Given the description of an element on the screen output the (x, y) to click on. 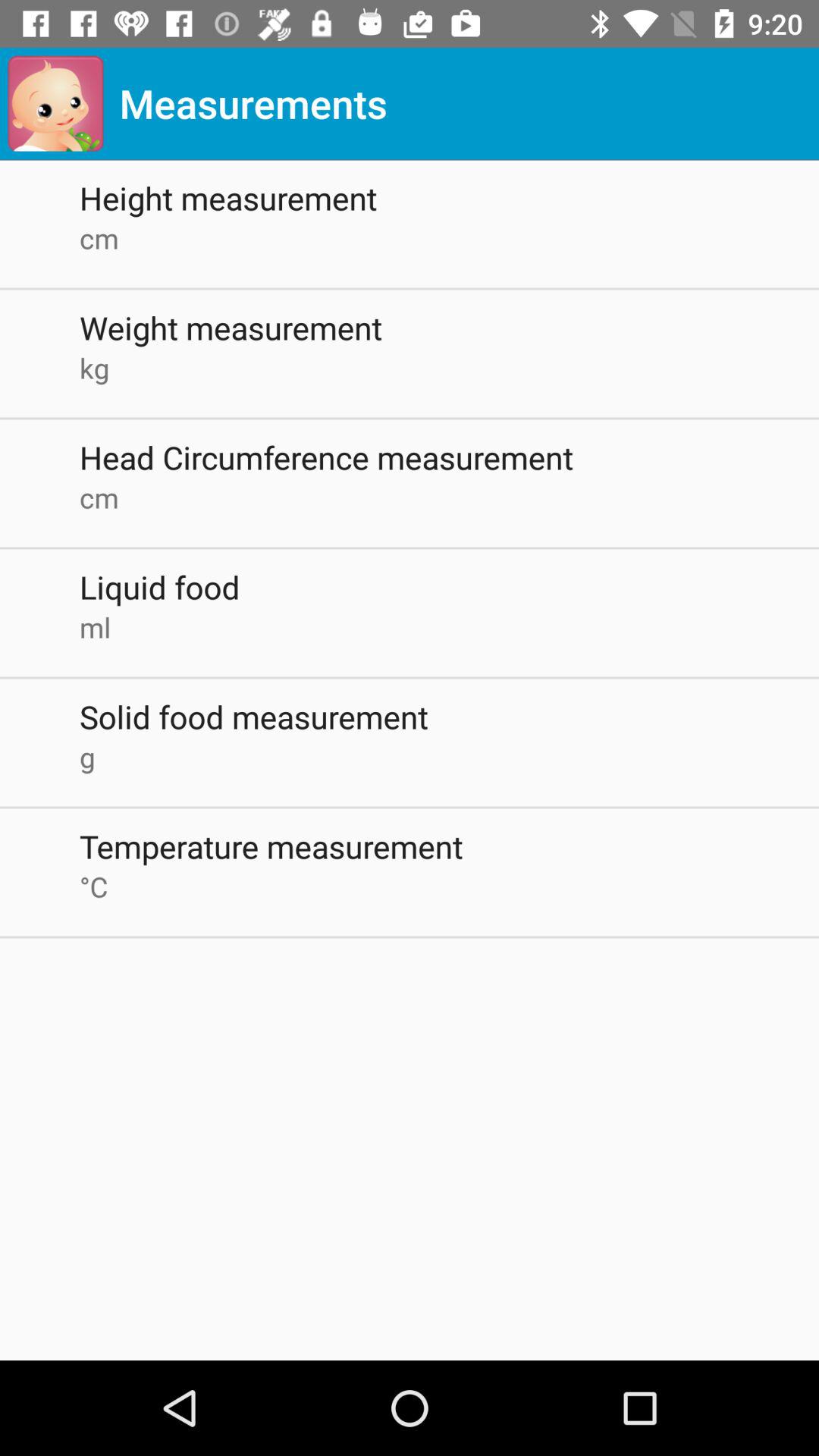
tap item below the cm (449, 586)
